Given the description of an element on the screen output the (x, y) to click on. 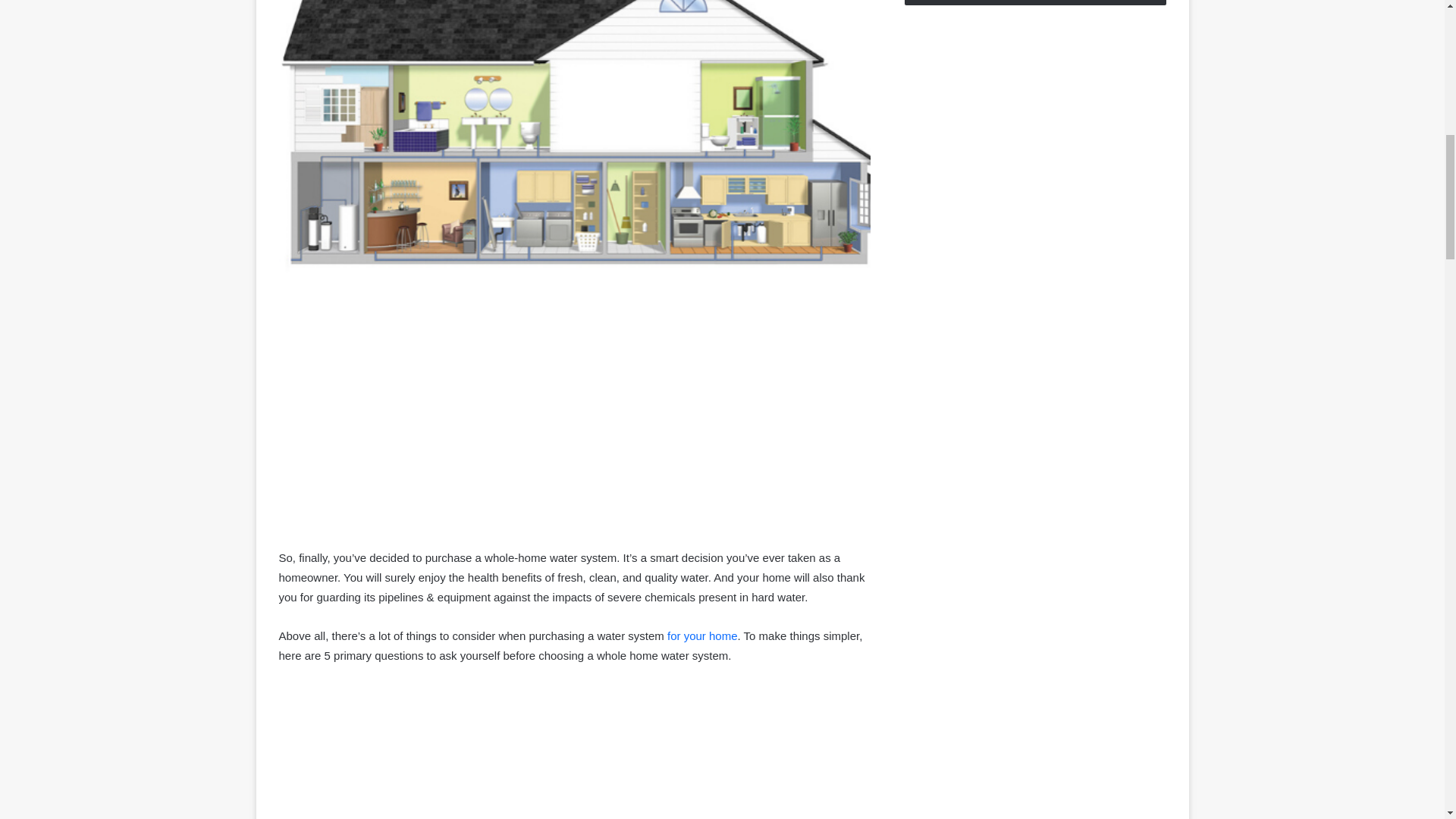
for your home (702, 635)
